Given the description of an element on the screen output the (x, y) to click on. 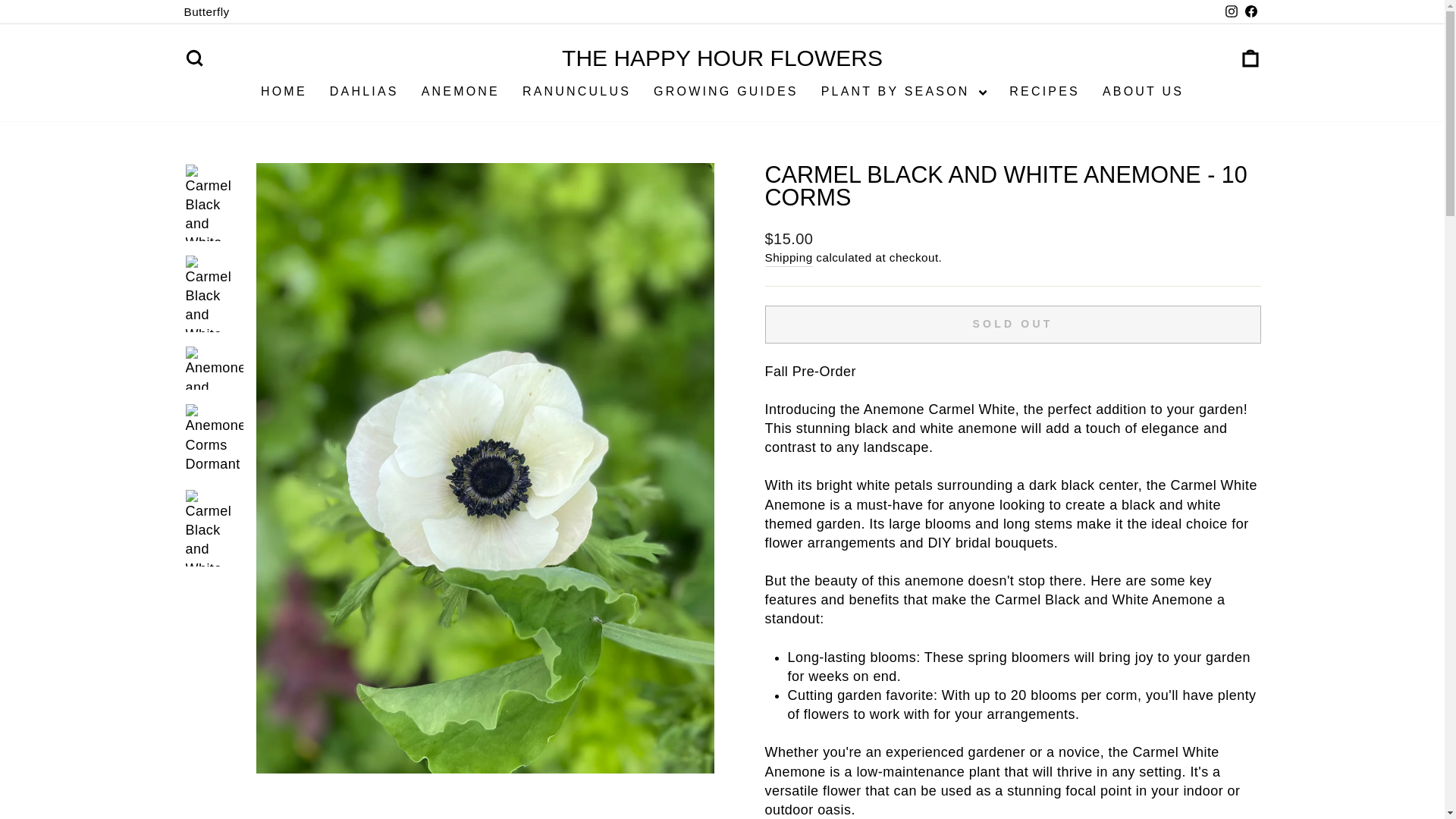
instagram (1231, 10)
HOME (283, 90)
RECIPES (1249, 58)
ABOUT US (1043, 90)
ICON-SEARCH (1142, 90)
Butterfly (194, 58)
THE HAPPY HOUR FLOWERS (194, 57)
ICON-BAG-MINIMAL (205, 11)
DAHLIAS (722, 57)
RANUNCULUS (1249, 57)
ANEMONE (364, 90)
GROWING GUIDES (576, 90)
